Given the description of an element on the screen output the (x, y) to click on. 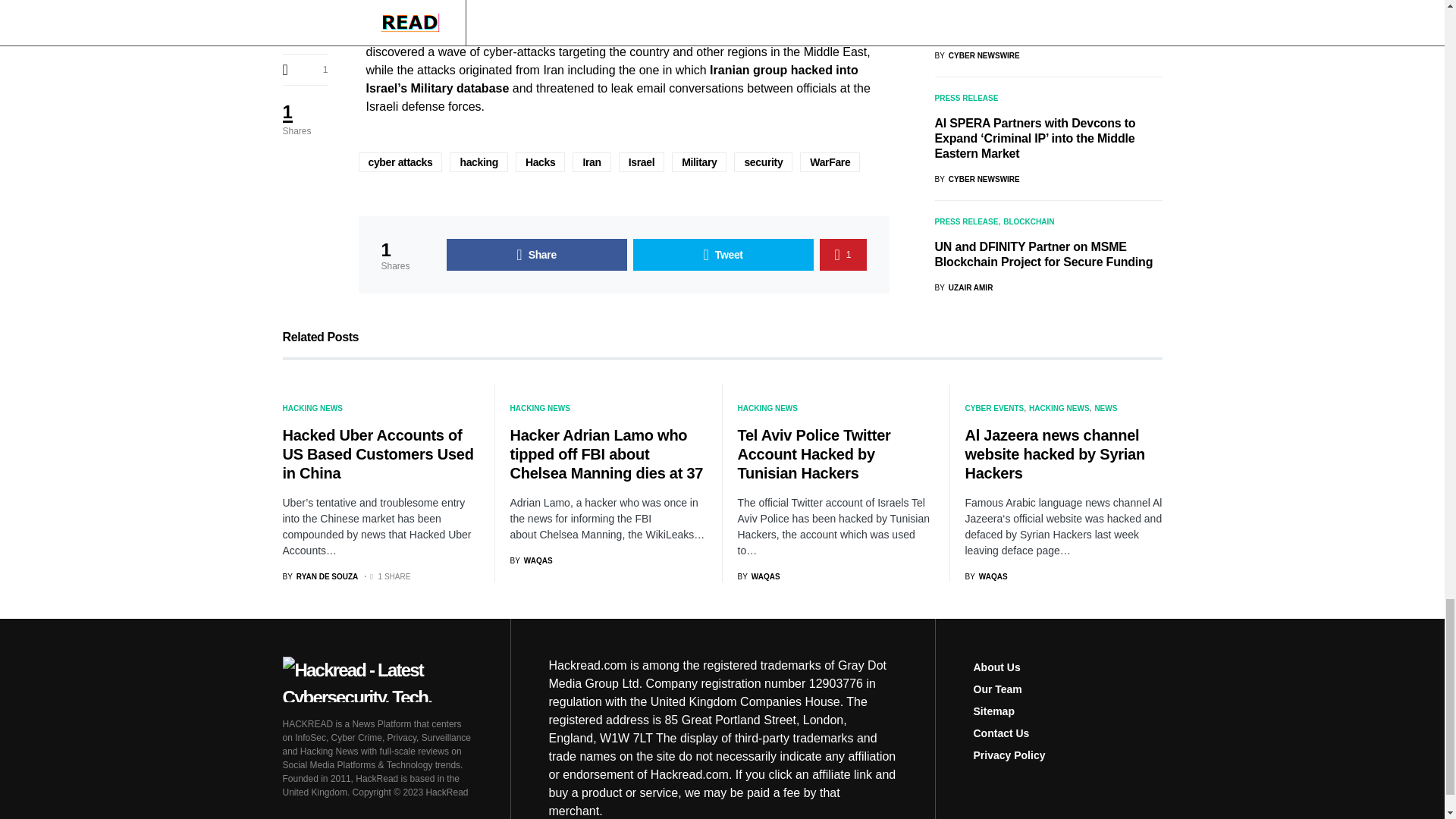
View all posts by Waqas (757, 576)
View all posts by Waqas (530, 560)
View all posts by Ryan De Souza (320, 576)
View all posts by Waqas (985, 576)
